Given the description of an element on the screen output the (x, y) to click on. 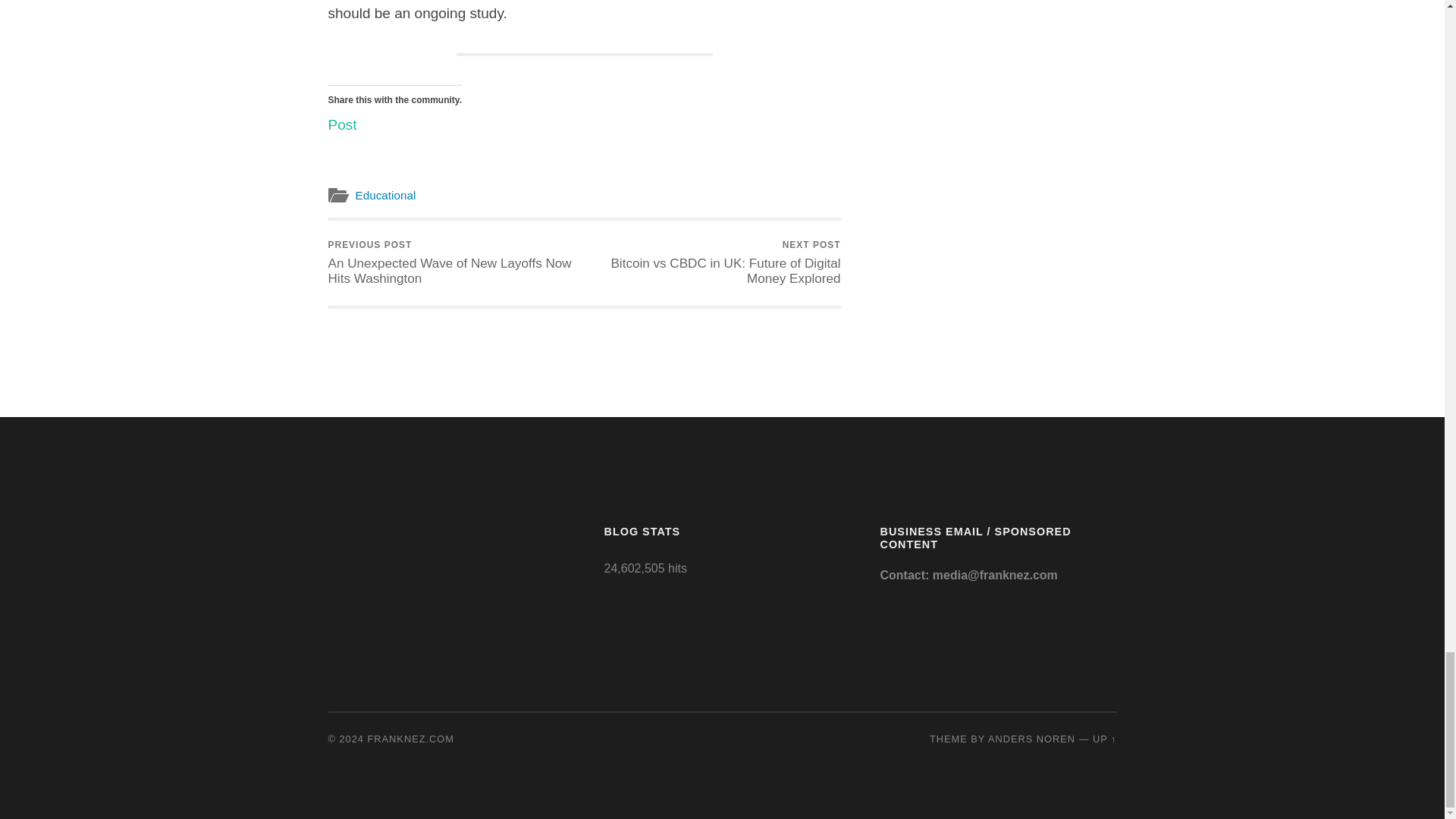
Educational (384, 195)
Post (341, 120)
